Given the description of an element on the screen output the (x, y) to click on. 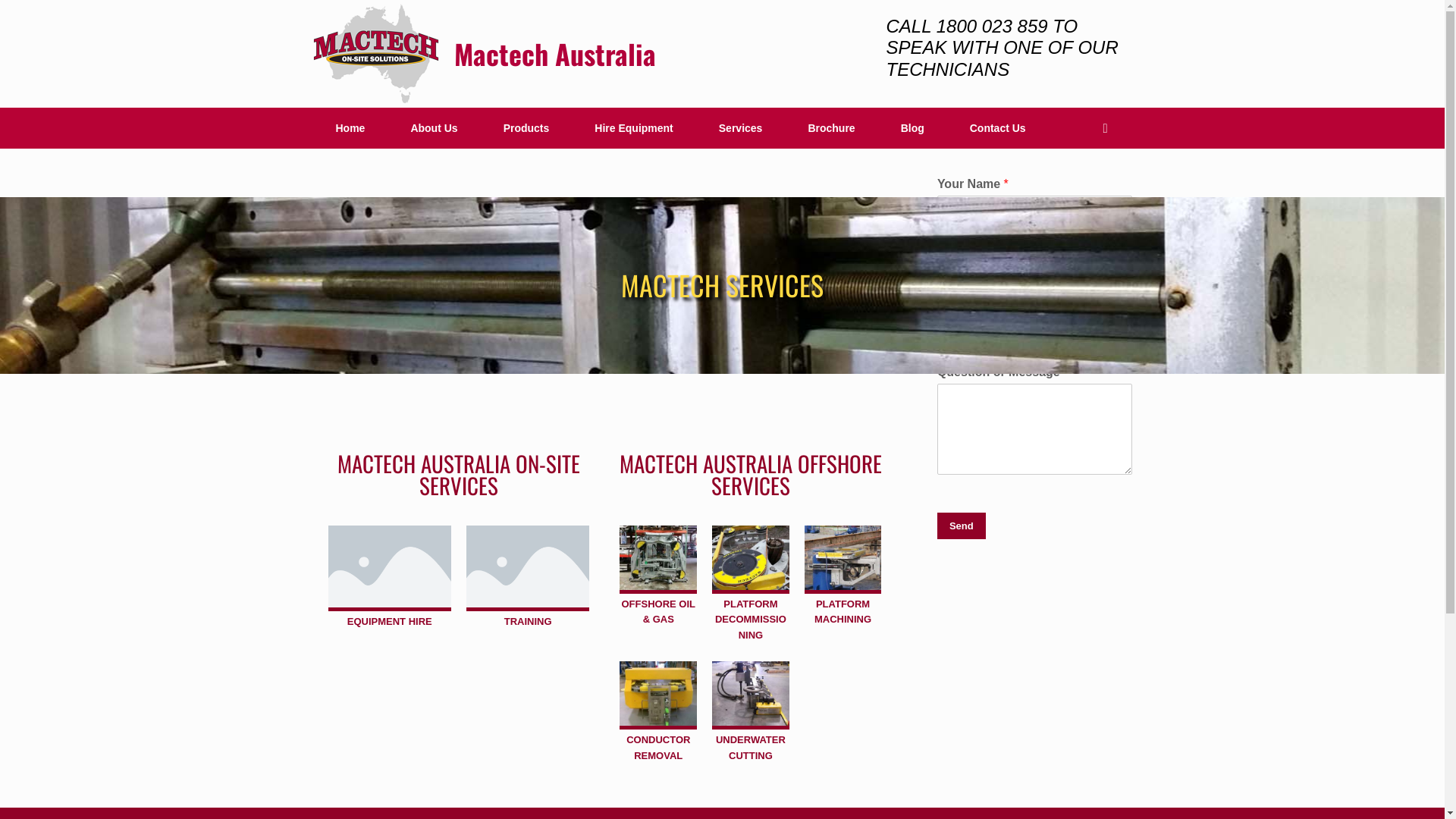
Hire Equipment Element type: text (633, 127)
Brochure Element type: text (830, 127)
Products Element type: text (526, 127)
Services Element type: text (740, 127)
Home Element type: text (349, 127)
Send Element type: text (961, 525)
Mactech Australia Element type: text (483, 53)
Contact Us Element type: text (997, 127)
About Us Element type: text (433, 127)
Blog Element type: text (912, 127)
